Given the description of an element on the screen output the (x, y) to click on. 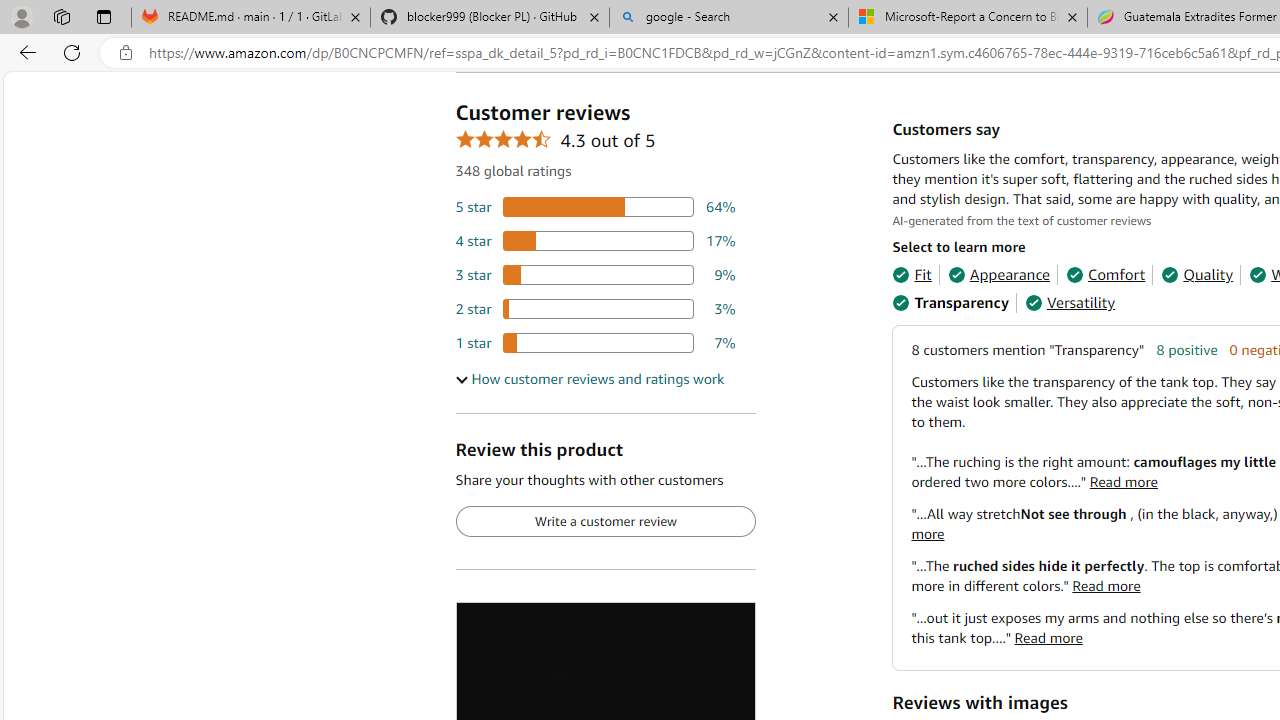
Versatility (1070, 303)
Quality (1196, 274)
9 percent of reviews have 3 stars (595, 274)
64 percent of reviews have 5 stars (595, 207)
How customer reviews and ratings work (589, 379)
17 percent of reviews have 4 stars (595, 241)
